Given the description of an element on the screen output the (x, y) to click on. 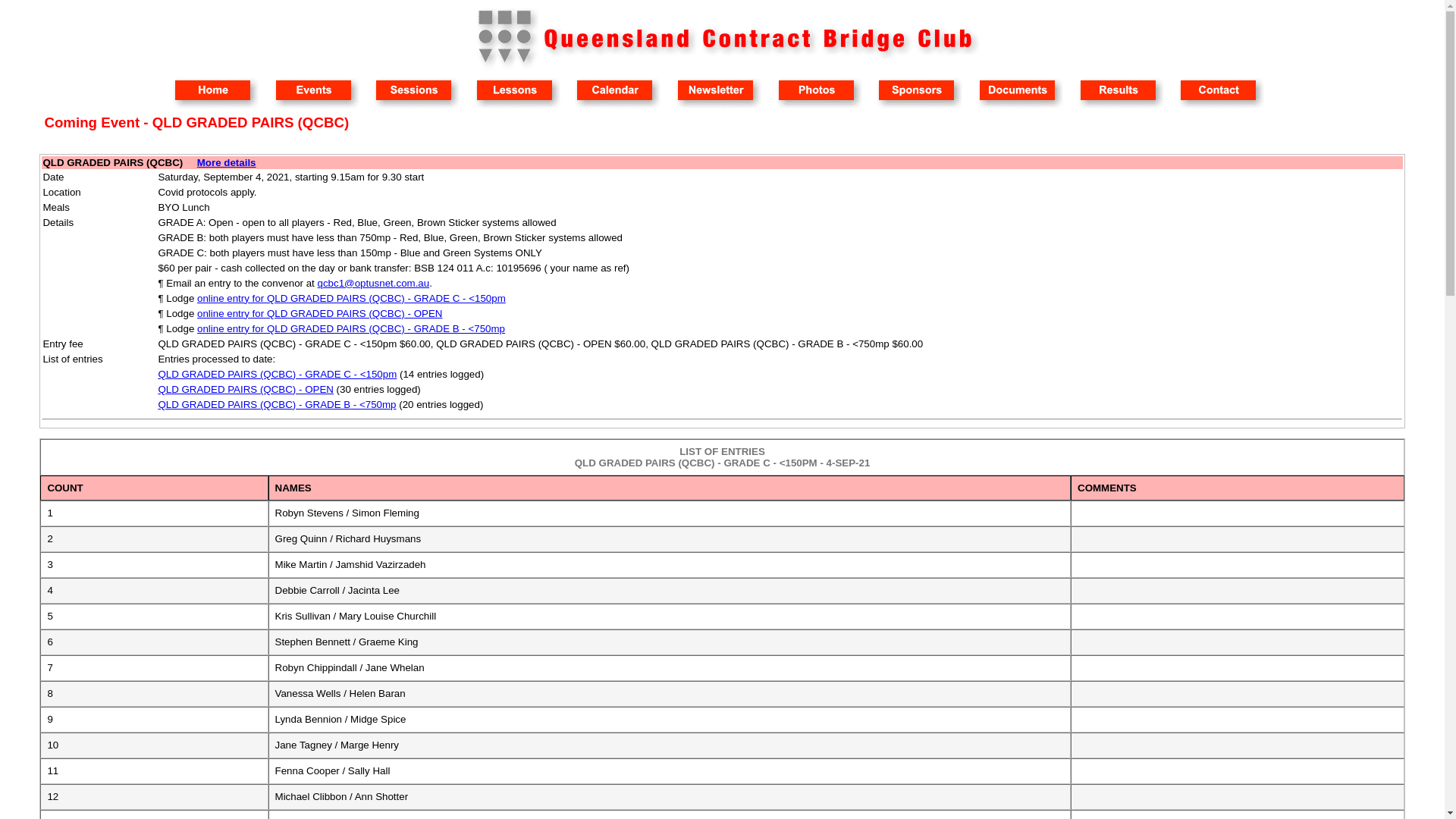
QLD GRADED PAIRS (QCBC) - GRADE B - <750mp Element type: text (276, 404)
qcbc1@optusnet.com.au Element type: text (373, 282)
online entry for QLD GRADED PAIRS (QCBC) - GRADE C - <150pm Element type: text (351, 298)
QLD GRADED PAIRS (QCBC) - GRADE C - <150pm Element type: text (276, 373)
online entry for QLD GRADED PAIRS (QCBC) - OPEN Element type: text (319, 313)
More details Element type: text (226, 162)
online entry for QLD GRADED PAIRS (QCBC) - GRADE B - <750mp Element type: text (351, 328)
QLD GRADED PAIRS (QCBC) - OPEN Element type: text (245, 389)
